Given the description of an element on the screen output the (x, y) to click on. 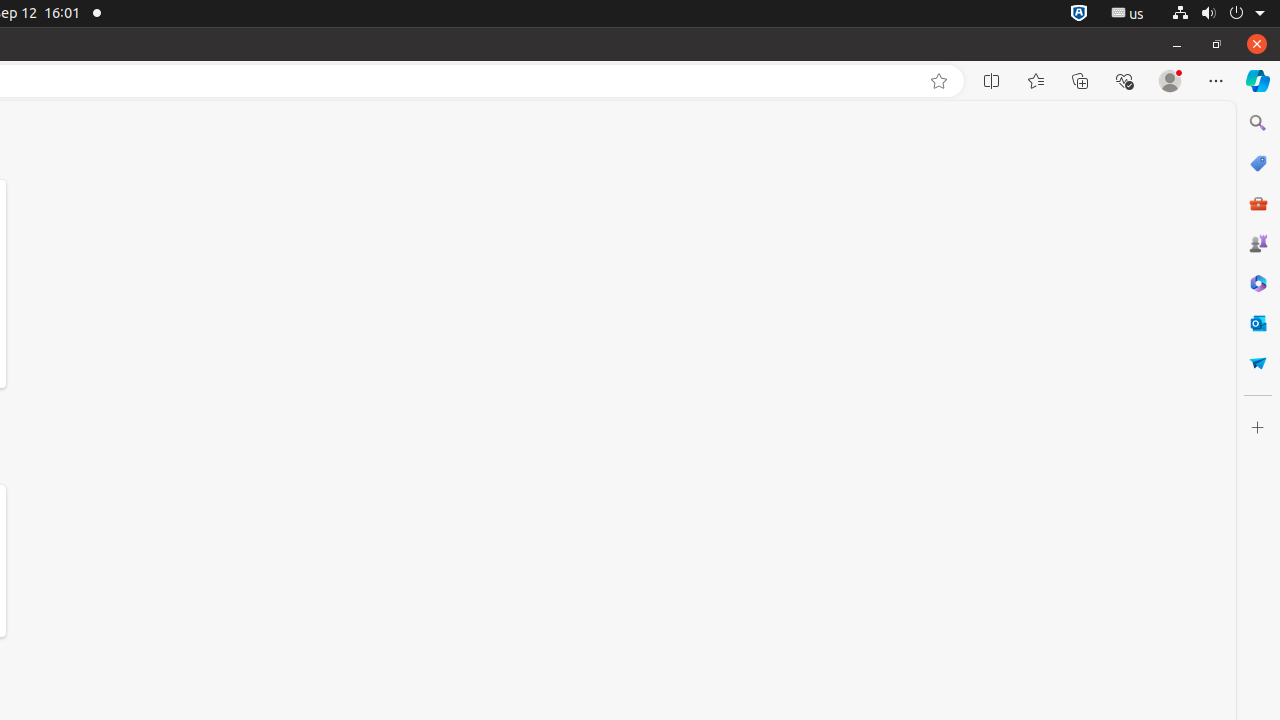
Customize Element type: push-button (1258, 428)
System Element type: menu (1218, 13)
Settings and more (Alt+F) Element type: push-button (1216, 81)
Profile 1 Profile, Please sign in Element type: push-button (1170, 81)
